Given the description of an element on the screen output the (x, y) to click on. 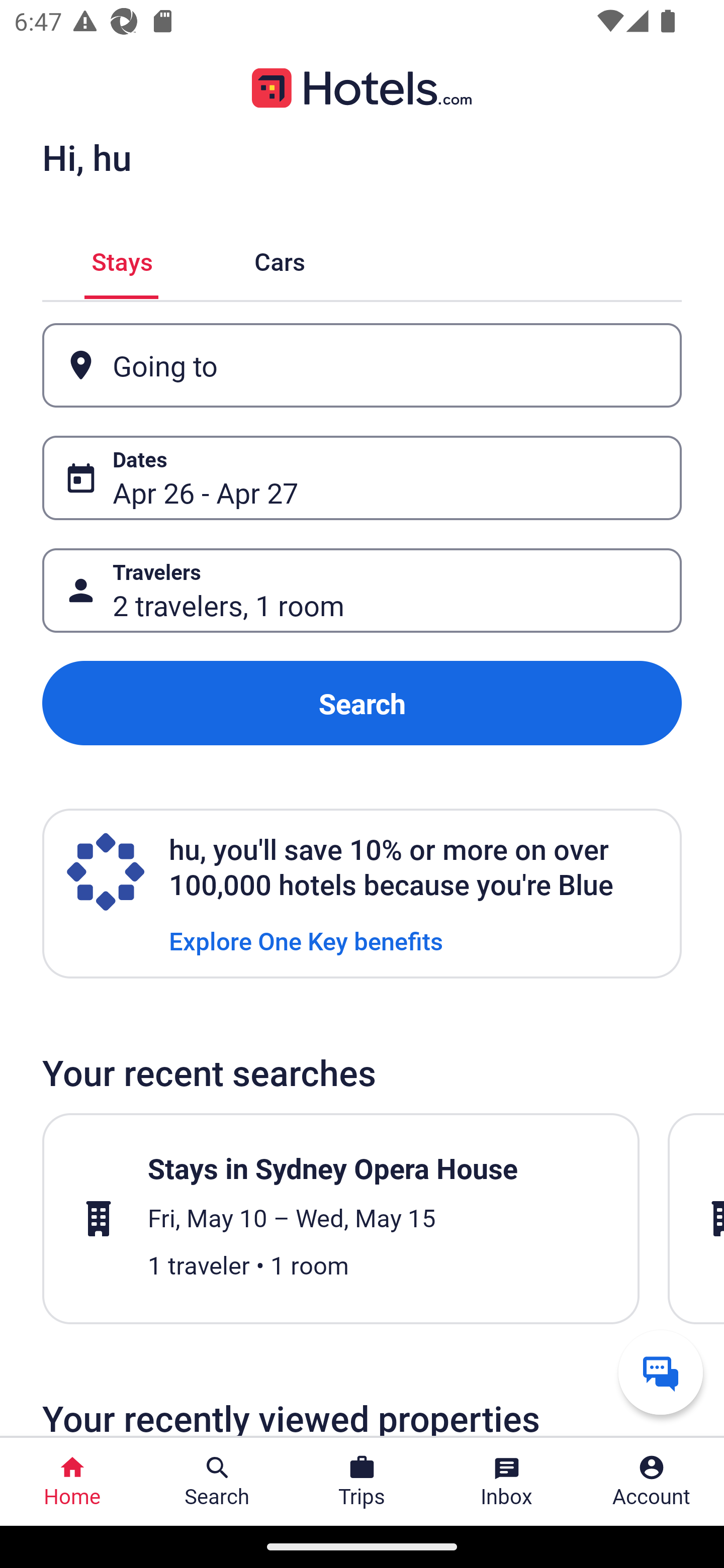
Hi, hu (86, 156)
Cars (279, 259)
Going to Button (361, 365)
Dates Button Apr 26 - Apr 27 (361, 477)
Travelers Button 2 travelers, 1 room (361, 590)
Search (361, 702)
Get help from a virtual agent (660, 1371)
Search Search Button (216, 1481)
Trips Trips Button (361, 1481)
Inbox Inbox Button (506, 1481)
Account Profile. Button (651, 1481)
